Given the description of an element on the screen output the (x, y) to click on. 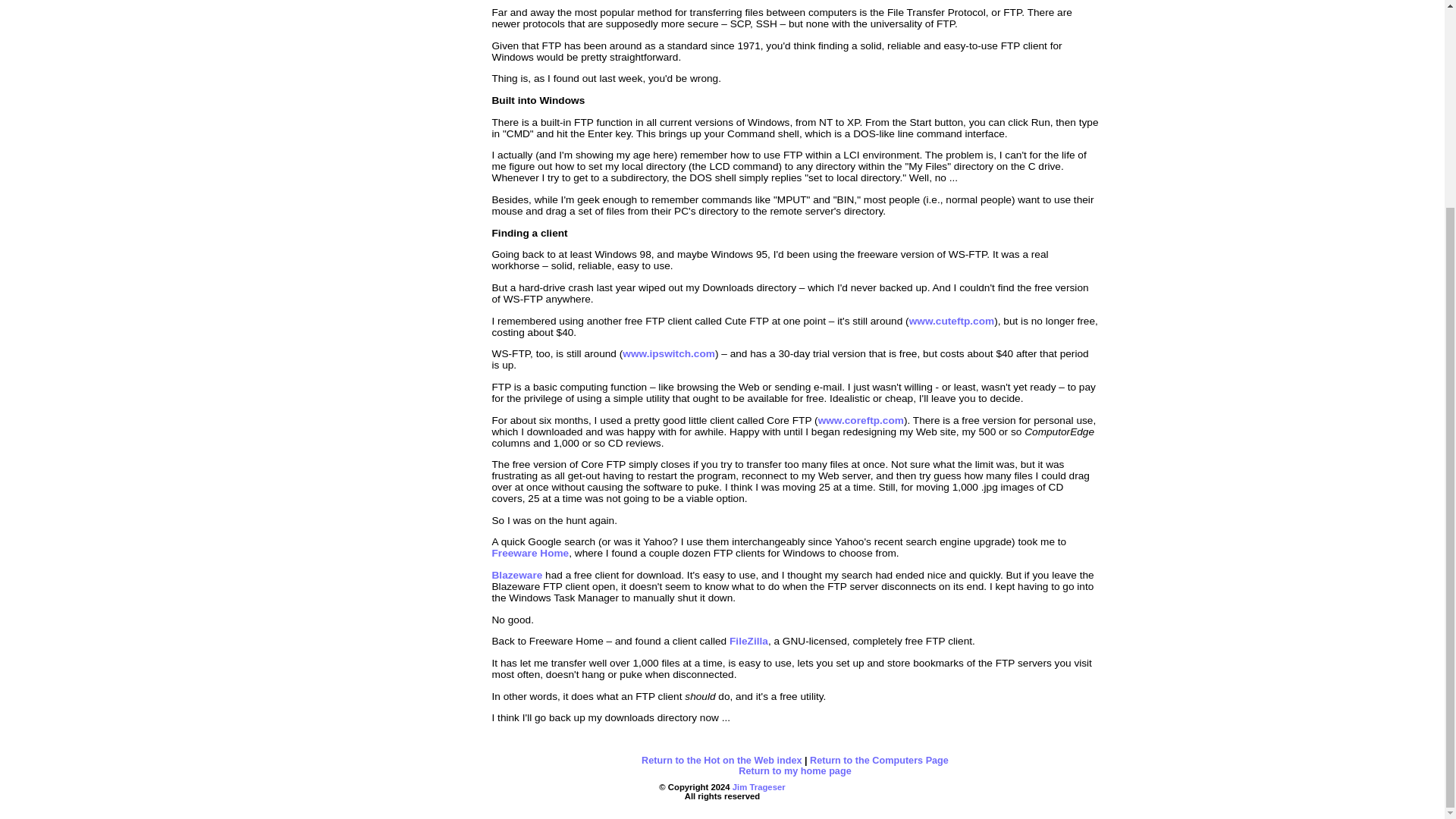
Return to the Hot on the Web index (722, 760)
FileZilla (748, 641)
www.ipswitch.com (668, 353)
www.cuteftp.com (951, 320)
Return to my home page (794, 770)
Jim Trageser (759, 786)
www.coreftp.com (861, 419)
Freeware Home (530, 552)
Blazeware (516, 574)
Return to the Computers Page (879, 760)
